Given the description of an element on the screen output the (x, y) to click on. 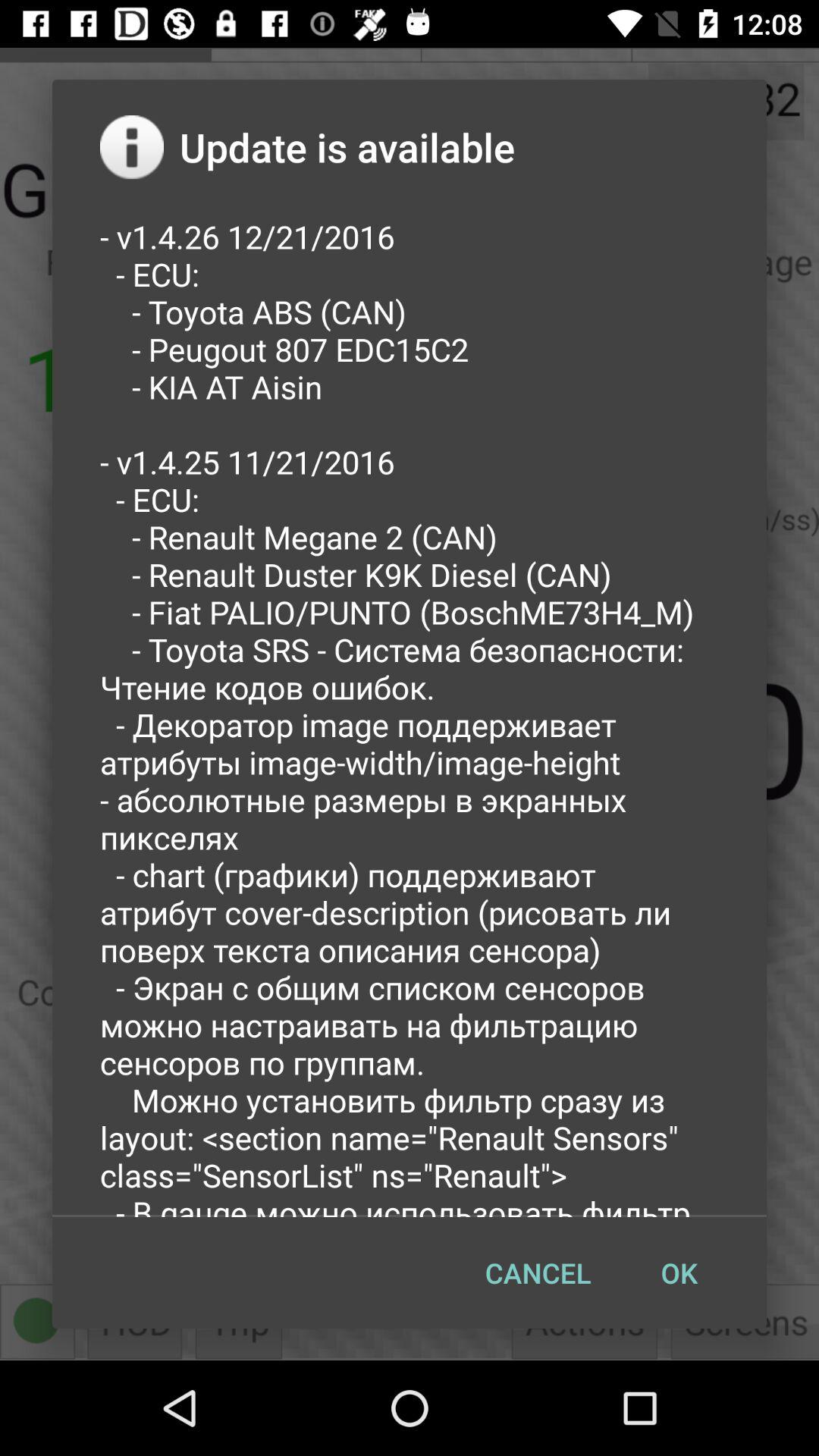
select the button to the right of the cancel item (678, 1272)
